Given the description of an element on the screen output the (x, y) to click on. 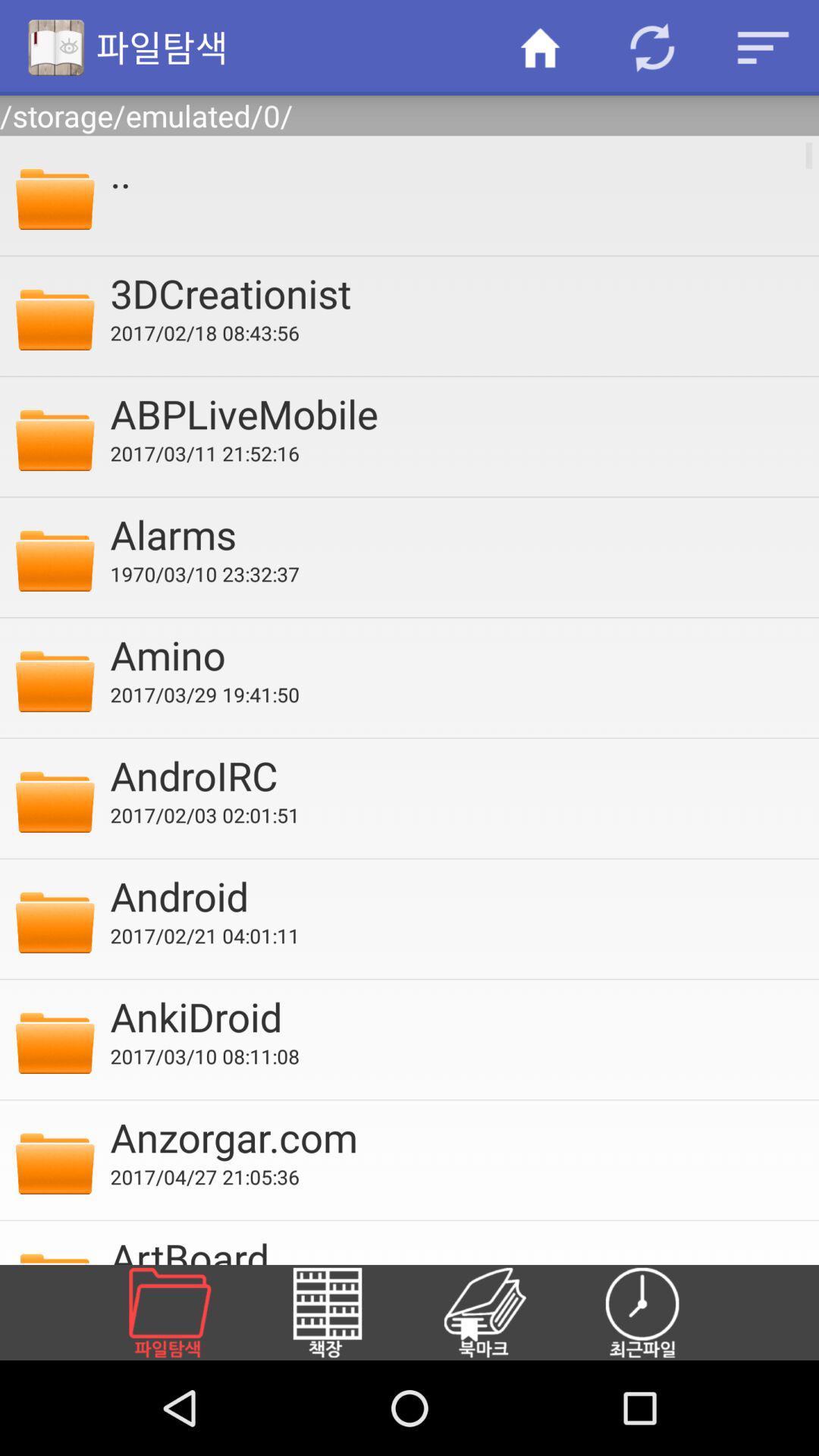
schedule a time (660, 1312)
